Given the description of an element on the screen output the (x, y) to click on. 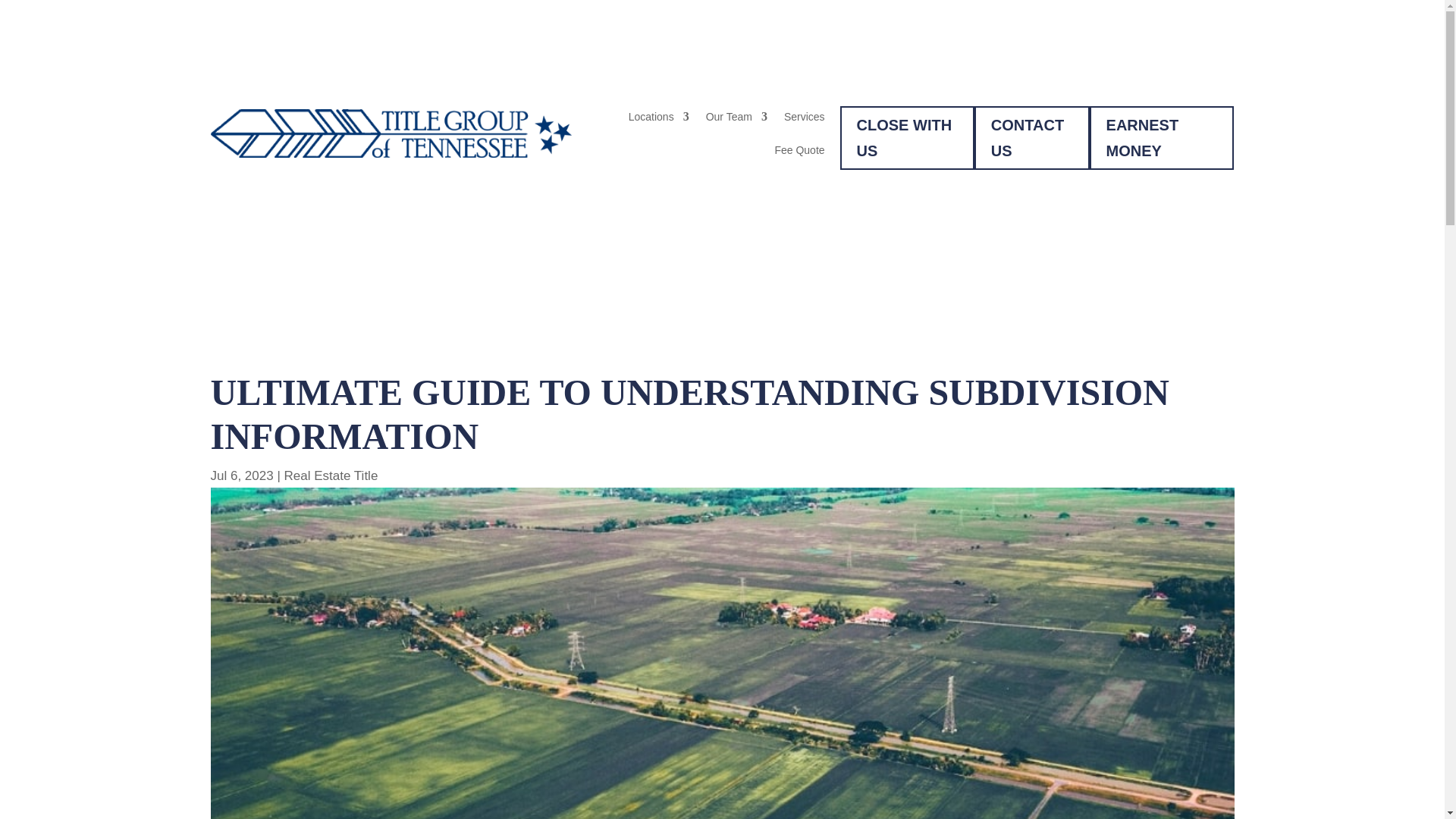
Fee Quote (799, 150)
EARNEST MONEY (1161, 137)
Our Team (736, 116)
Services (804, 116)
Locations (658, 116)
Real Estate Title (330, 475)
CLOSE WITH US (907, 137)
CONTACT US (1031, 137)
